Given the description of an element on the screen output the (x, y) to click on. 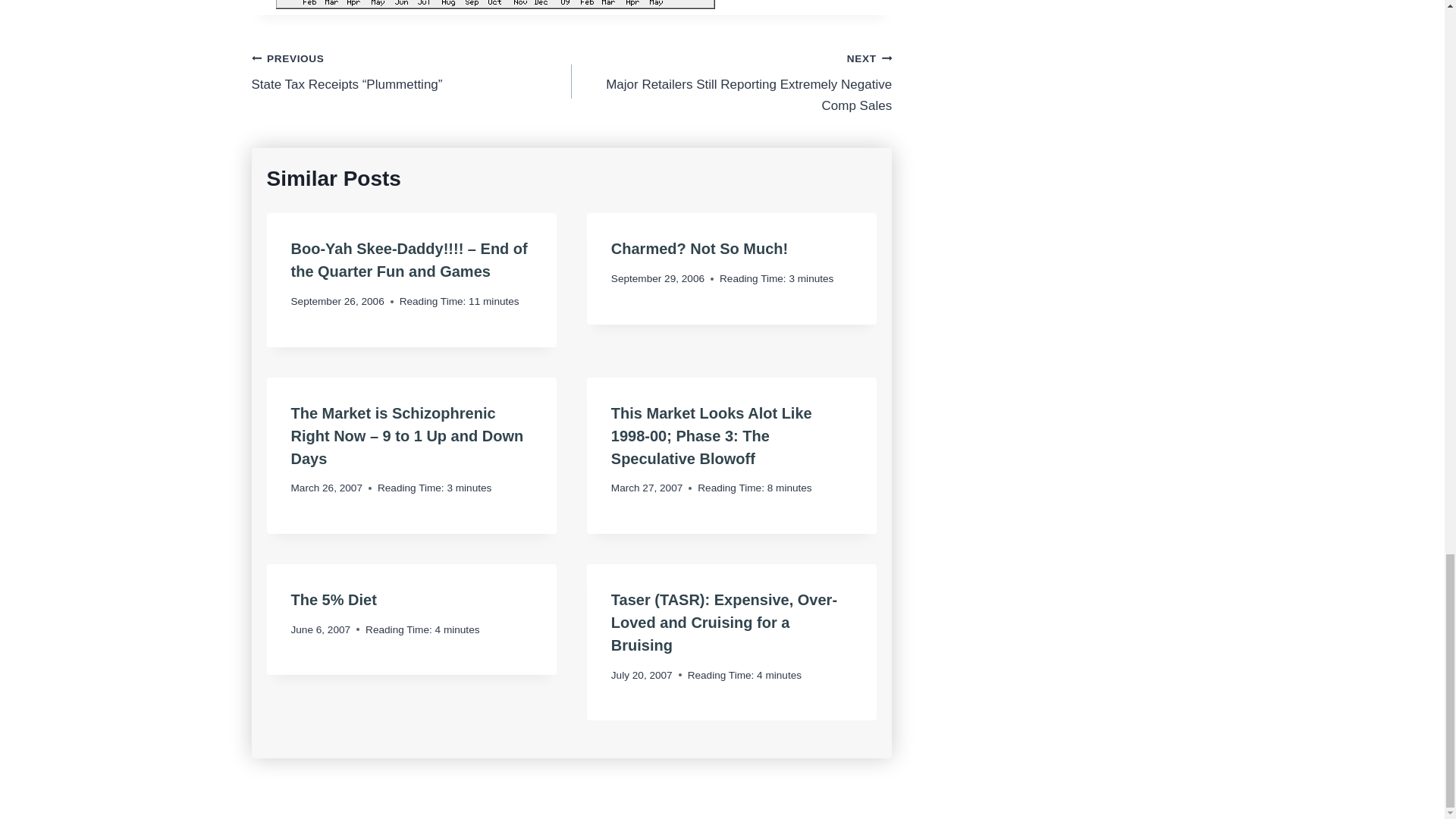
Charmed? Not So Much! (699, 248)
sp-200-dma (495, 4)
